Given the description of an element on the screen output the (x, y) to click on. 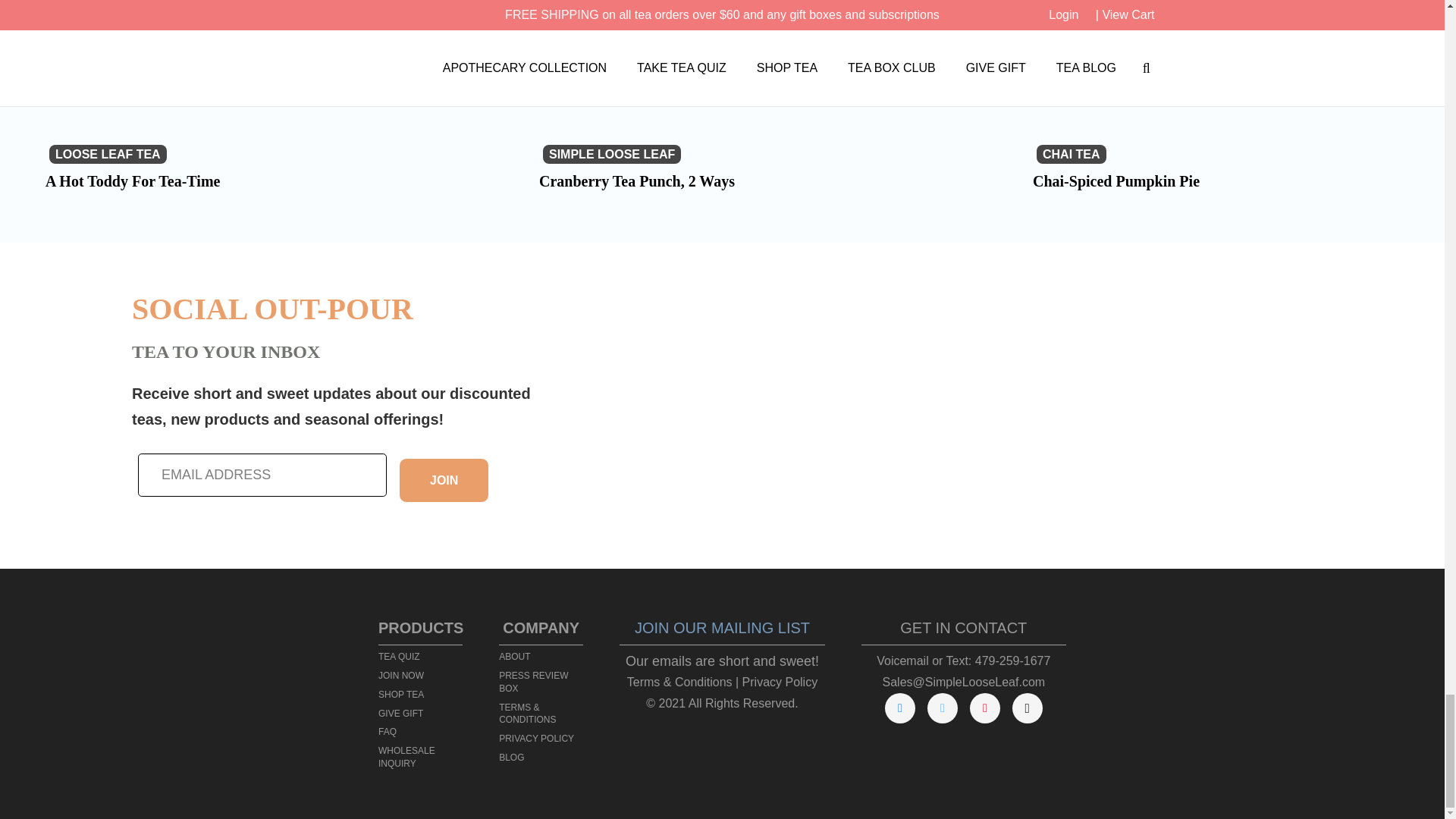
Instagram (1026, 707)
Join (443, 480)
Facebook (900, 707)
Pinterest (984, 707)
Twitter (942, 707)
